Given the description of an element on the screen output the (x, y) to click on. 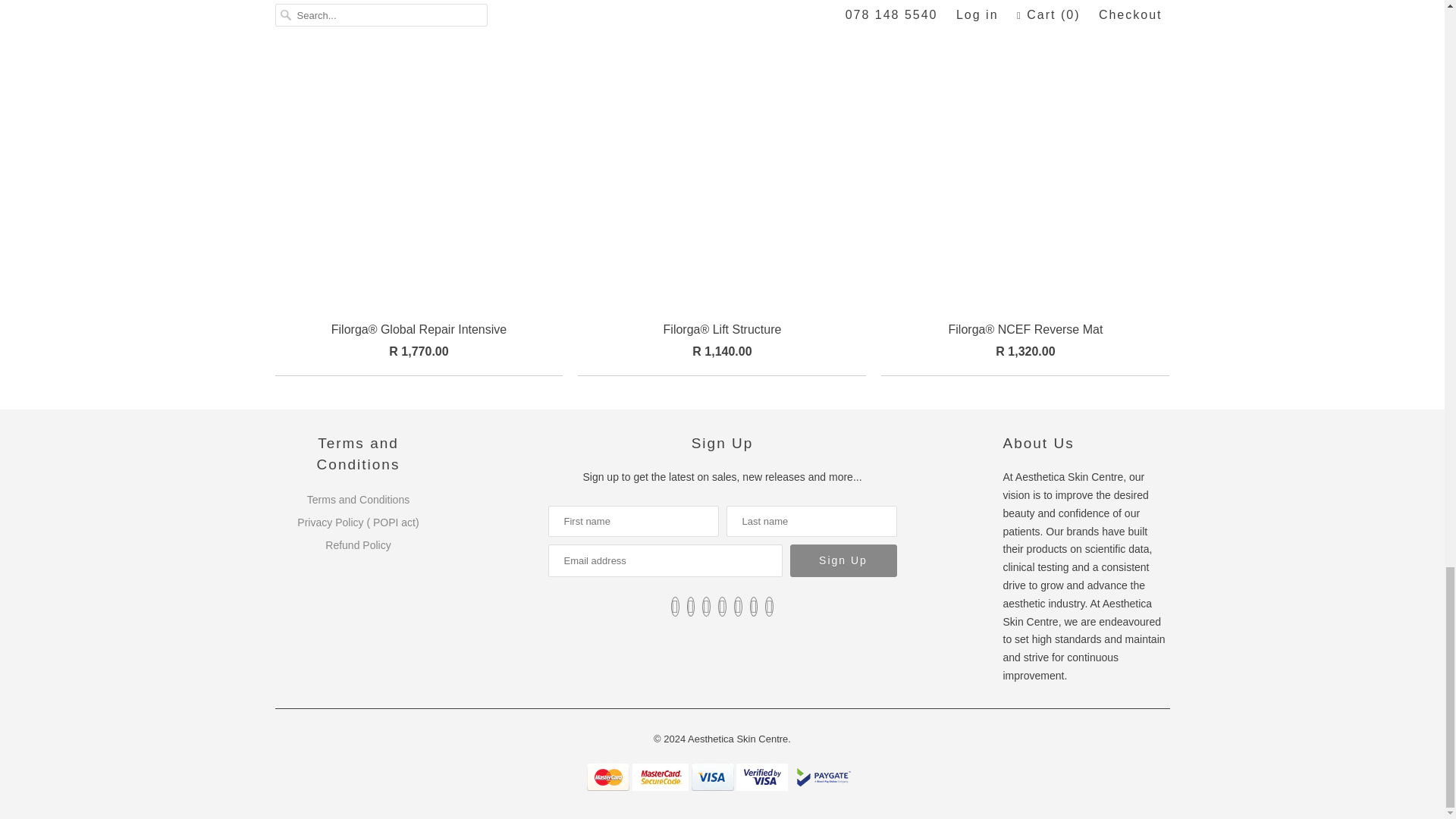
Sign Up (843, 560)
Sign Up (843, 560)
Refund Policy (357, 544)
Terms and Conditions (358, 499)
